Given the description of an element on the screen output the (x, y) to click on. 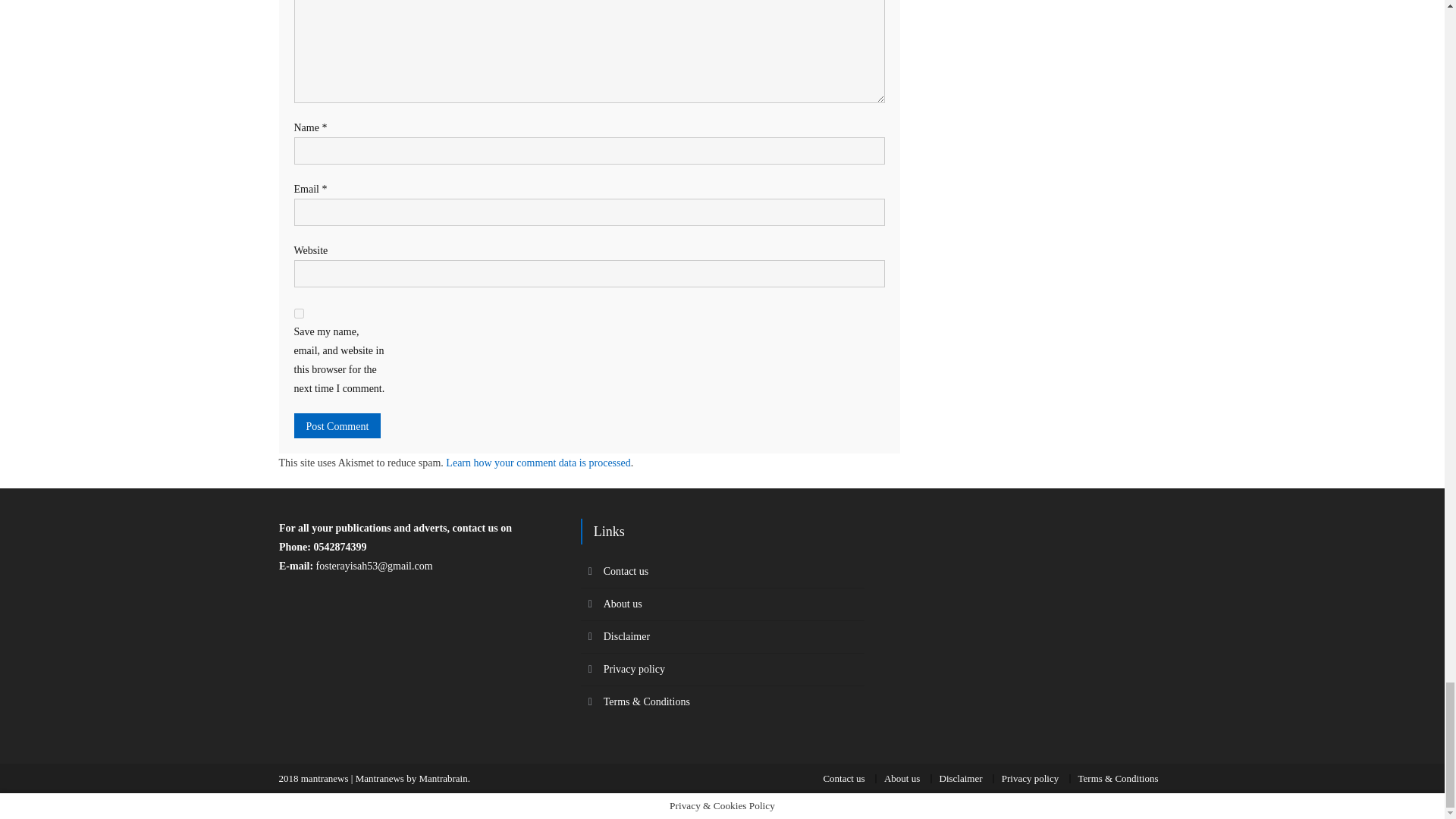
Post Comment (337, 425)
yes (299, 313)
